Given the description of an element on the screen output the (x, y) to click on. 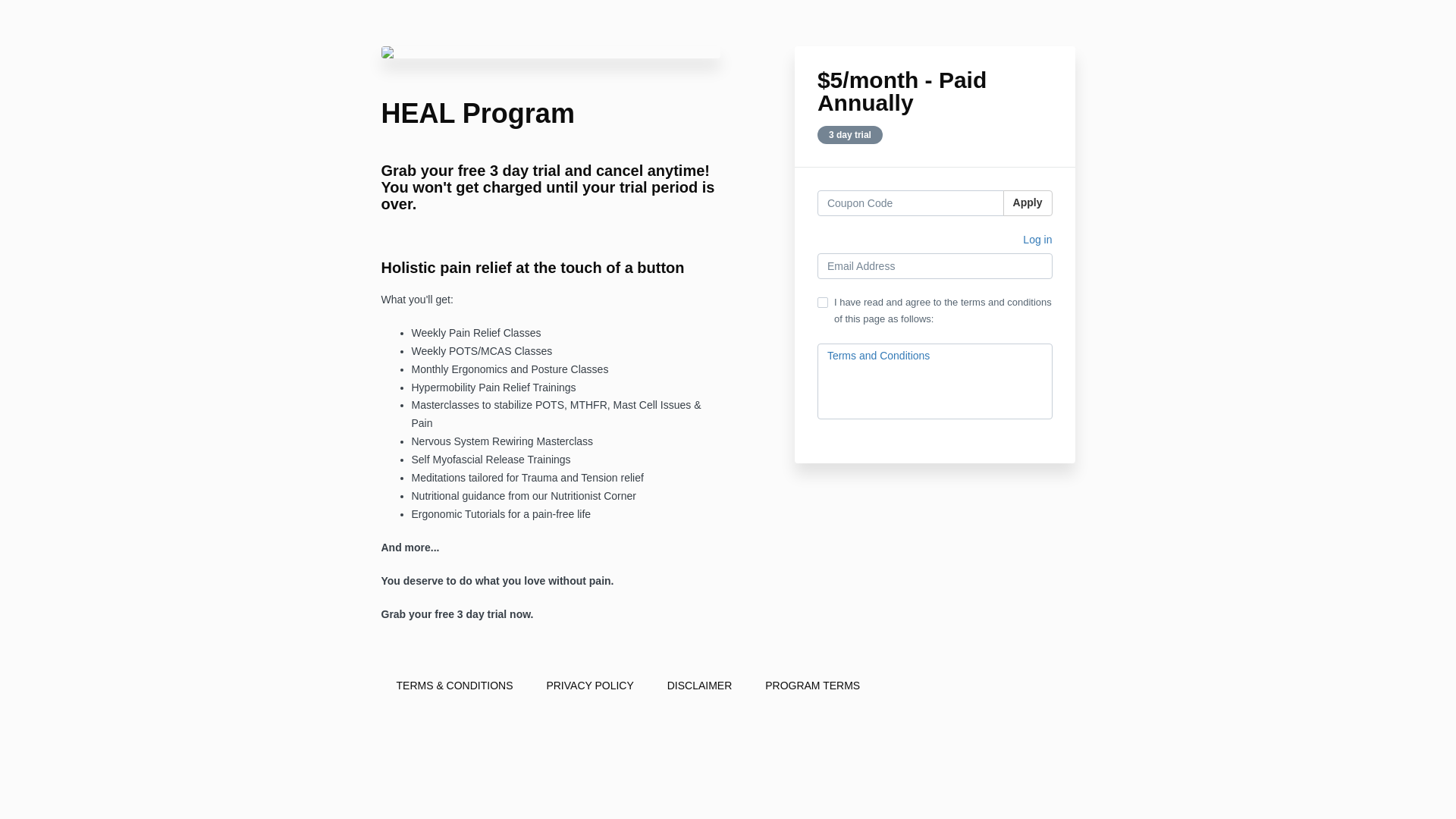
PROGRAM TERMS (812, 686)
Terms and Conditions (878, 355)
1 (822, 302)
PRIVACY POLICY (589, 686)
Apply (1027, 203)
Log in (1037, 241)
DISCLAIMER (700, 686)
